Given the description of an element on the screen output the (x, y) to click on. 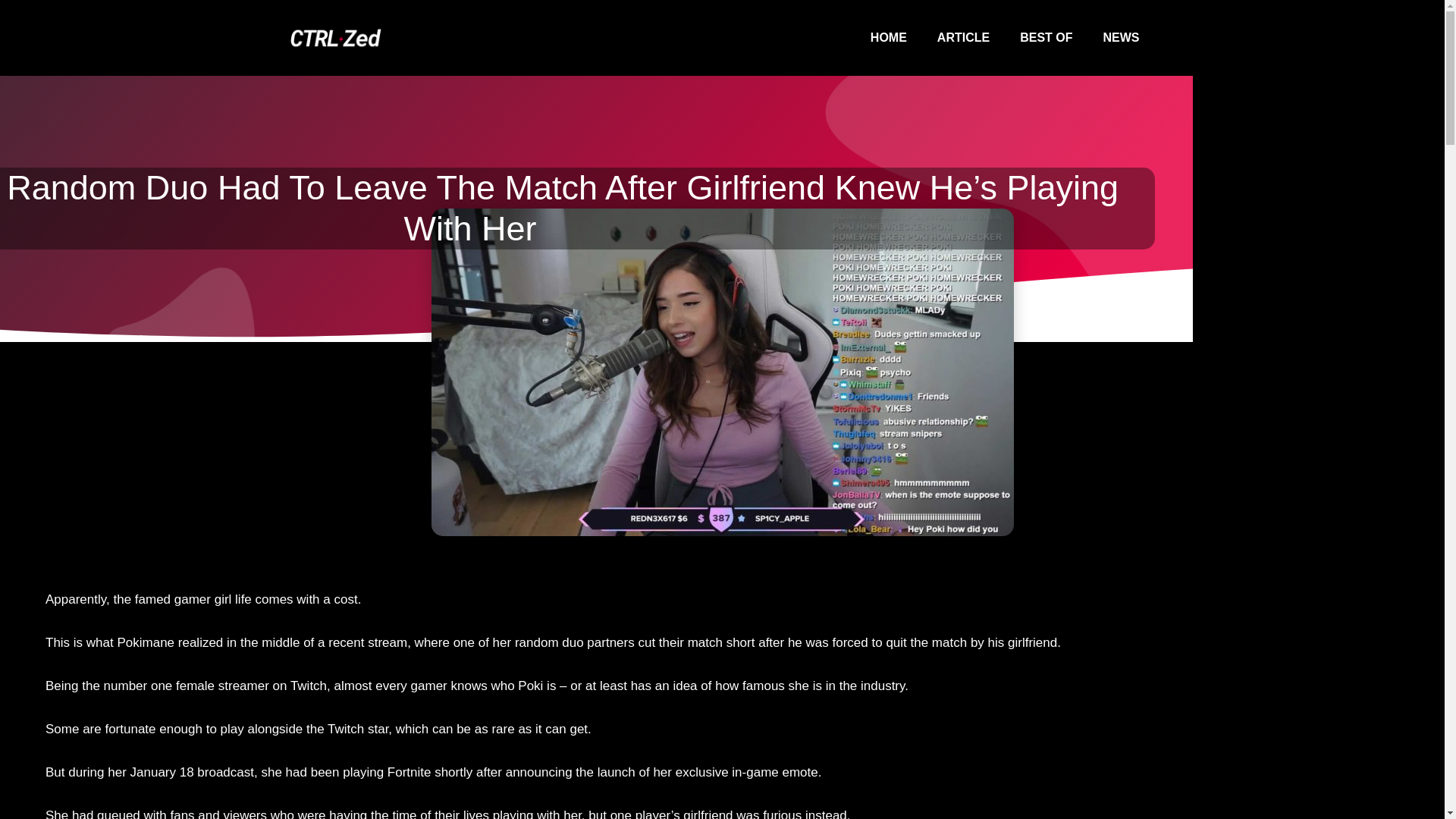
ARTICLE (962, 38)
BEST OF (1045, 38)
